Given the description of an element on the screen output the (x, y) to click on. 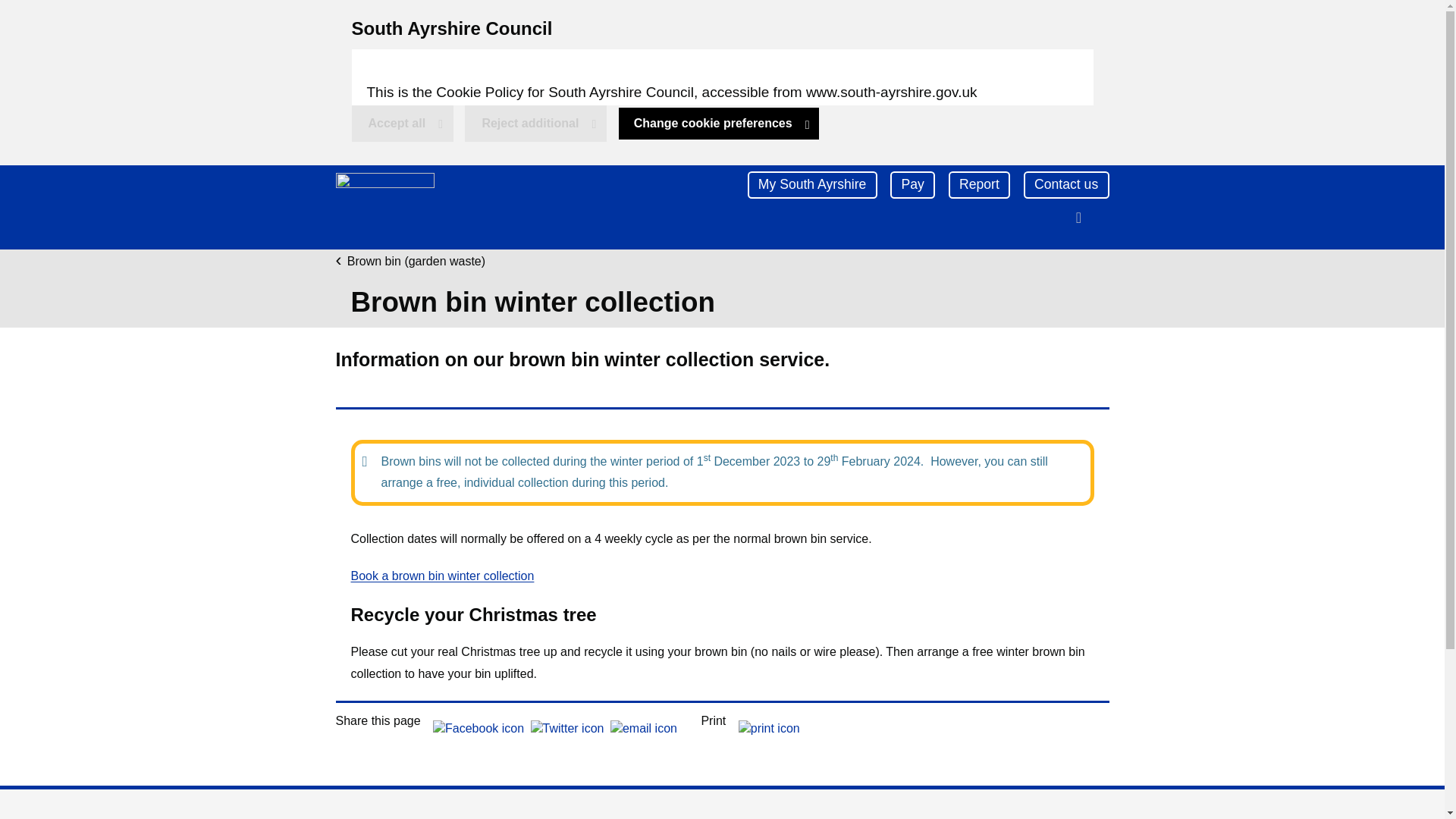
My South Ayrshire (812, 185)
Report (979, 185)
Change cookie preferences (383, 206)
Skip to main content (718, 123)
Reject additional (19, 15)
Contact us (535, 123)
Accept all (1066, 185)
Pay (403, 123)
